Given the description of an element on the screen output the (x, y) to click on. 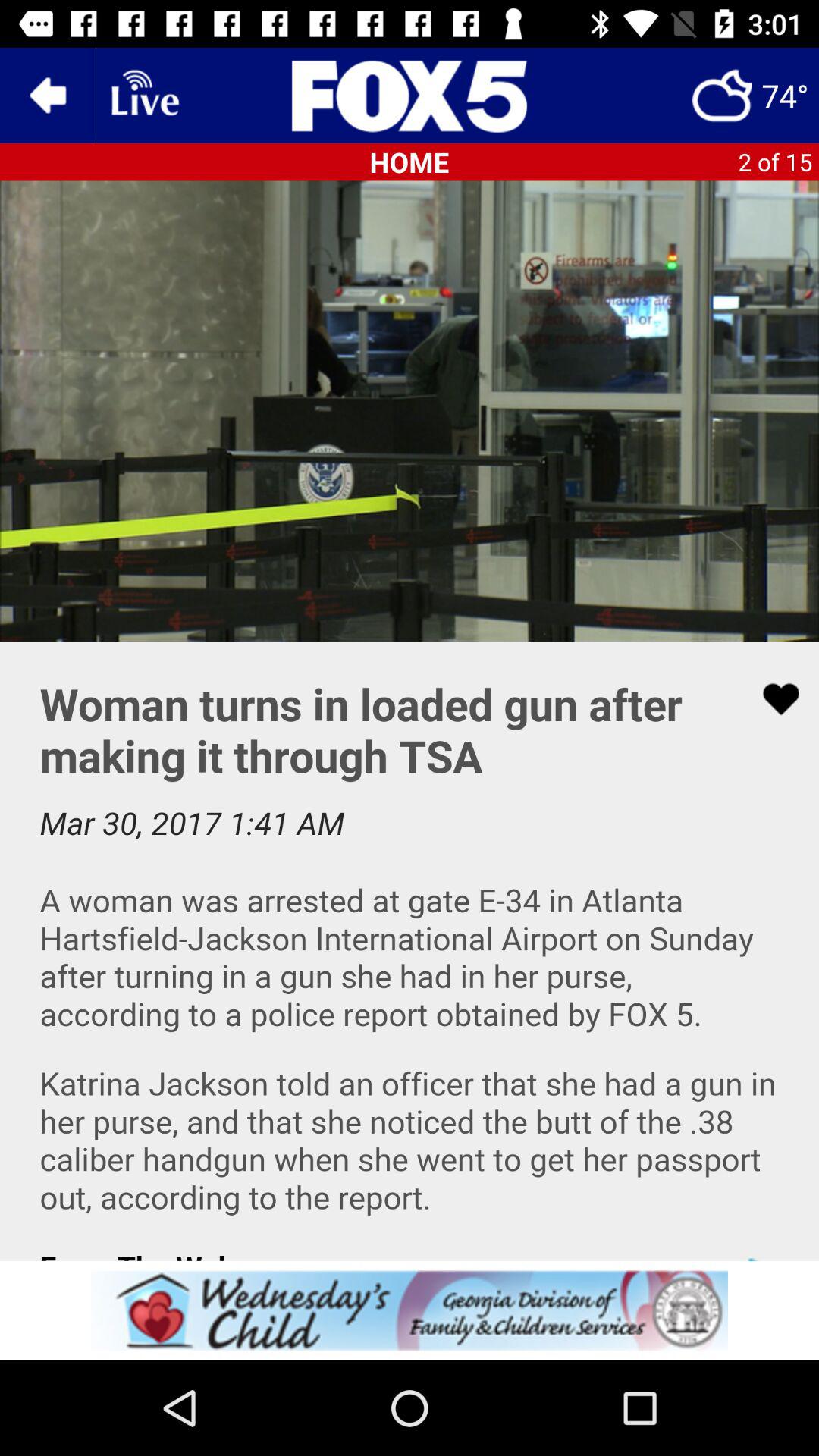
go back (47, 95)
